Given the description of an element on the screen output the (x, y) to click on. 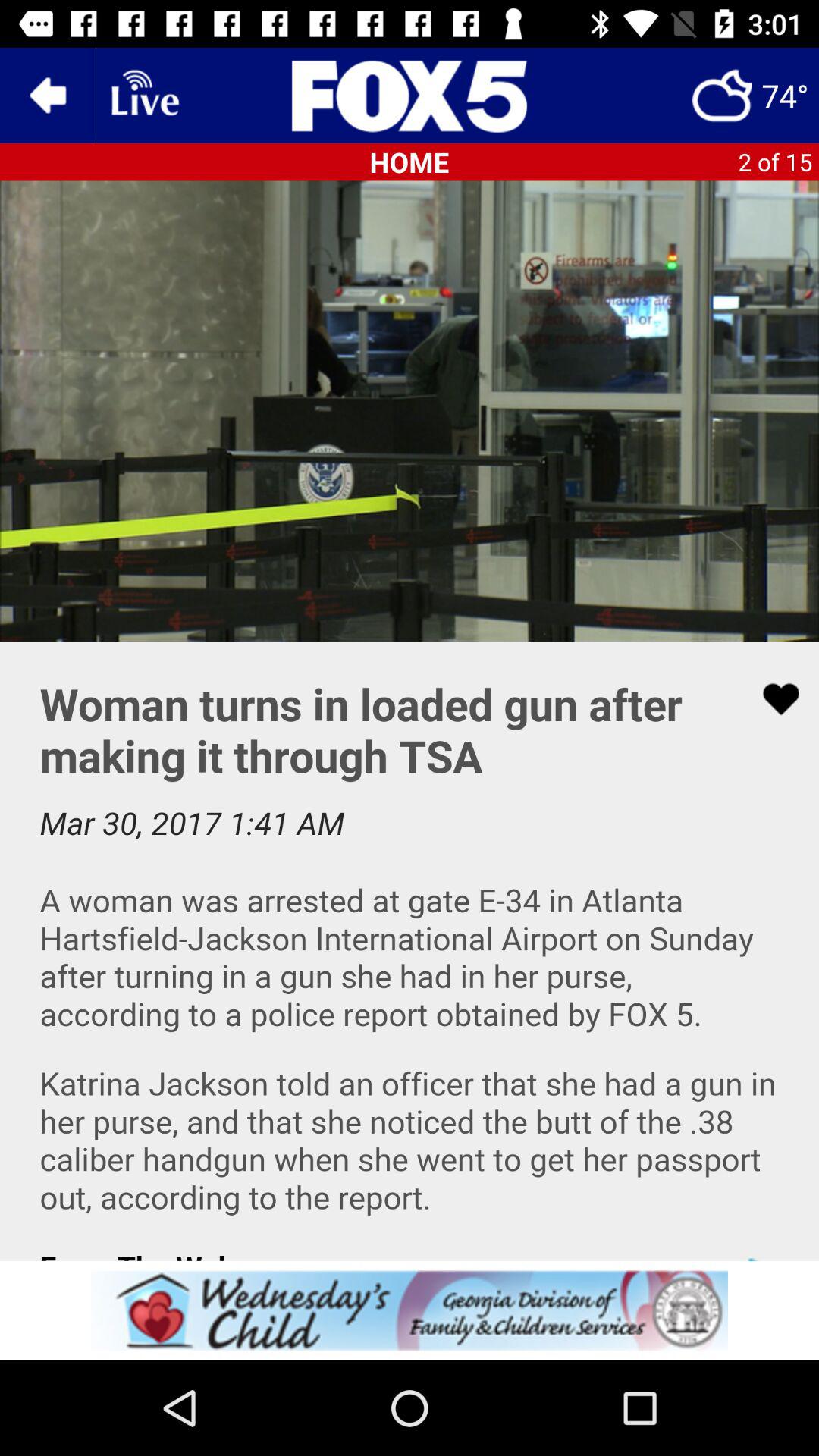
go back (47, 95)
